Given the description of an element on the screen output the (x, y) to click on. 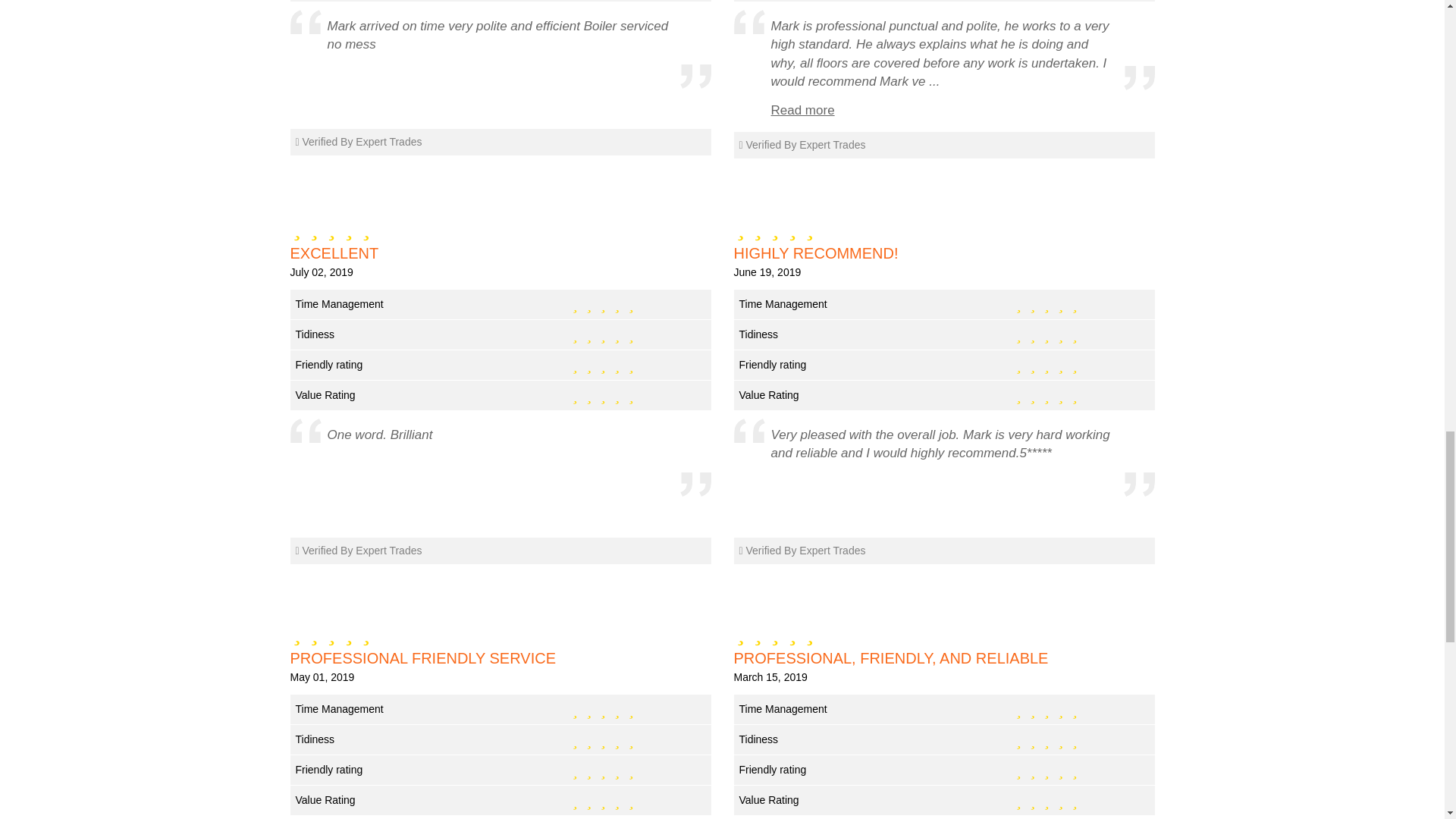
EXCELLENT (499, 252)
PROFESSIONAL FRIENDLY SERVICE (499, 658)
HIGHLY RECOMMEND! (943, 252)
Read more (802, 110)
PROFESSIONAL, FRIENDLY, AND RELIABLE (943, 658)
